Given the description of an element on the screen output the (x, y) to click on. 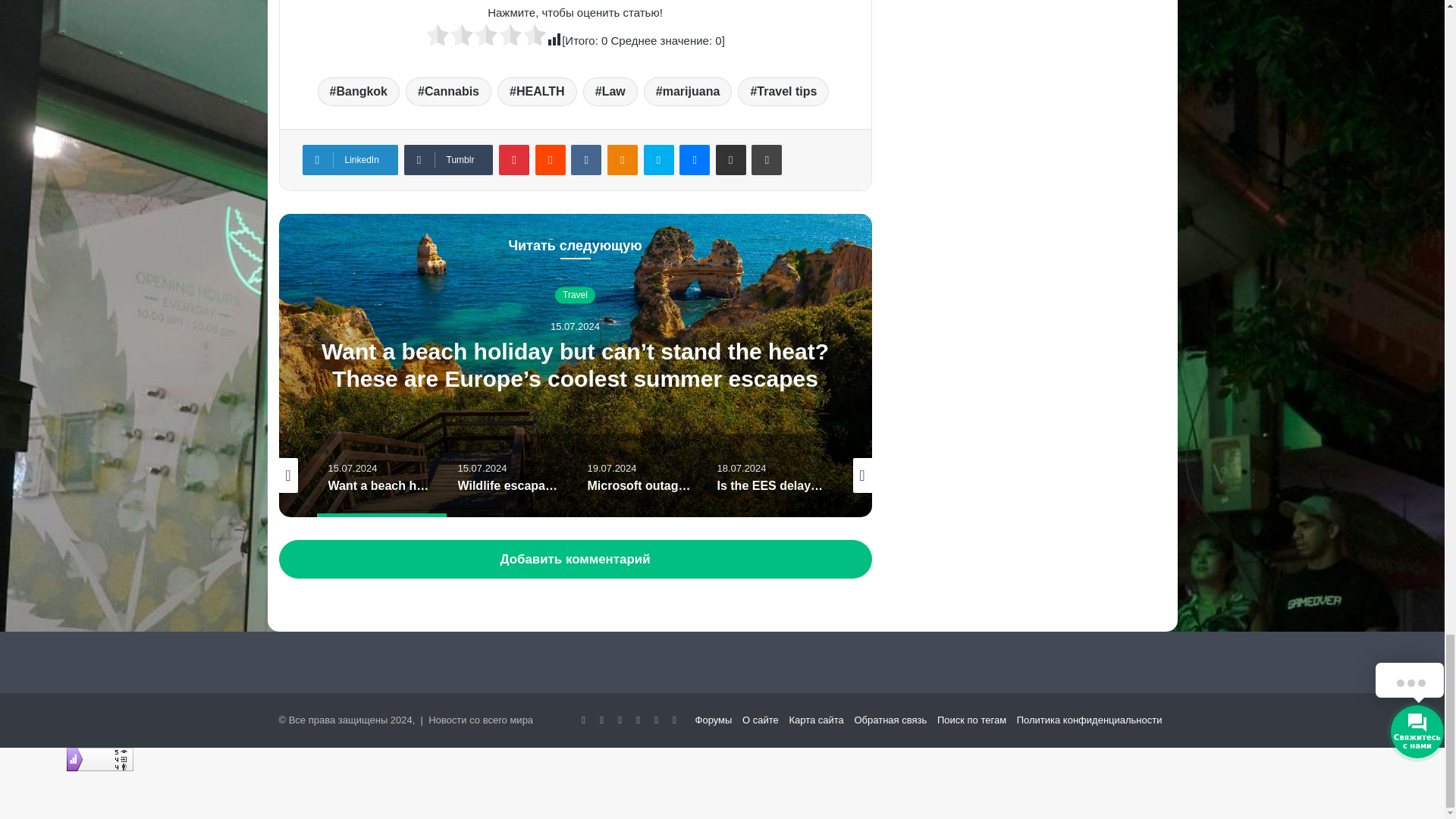
Skype (658, 159)
LinkedIn (349, 159)
Reddit (550, 159)
Tumblr (448, 159)
Messenger (694, 159)
Pinterest (514, 159)
HEALTH (536, 91)
Law (610, 91)
marijuana (687, 91)
Travel tips (783, 91)
Cannabis (449, 91)
Bangkok (357, 91)
